Given the description of an element on the screen output the (x, y) to click on. 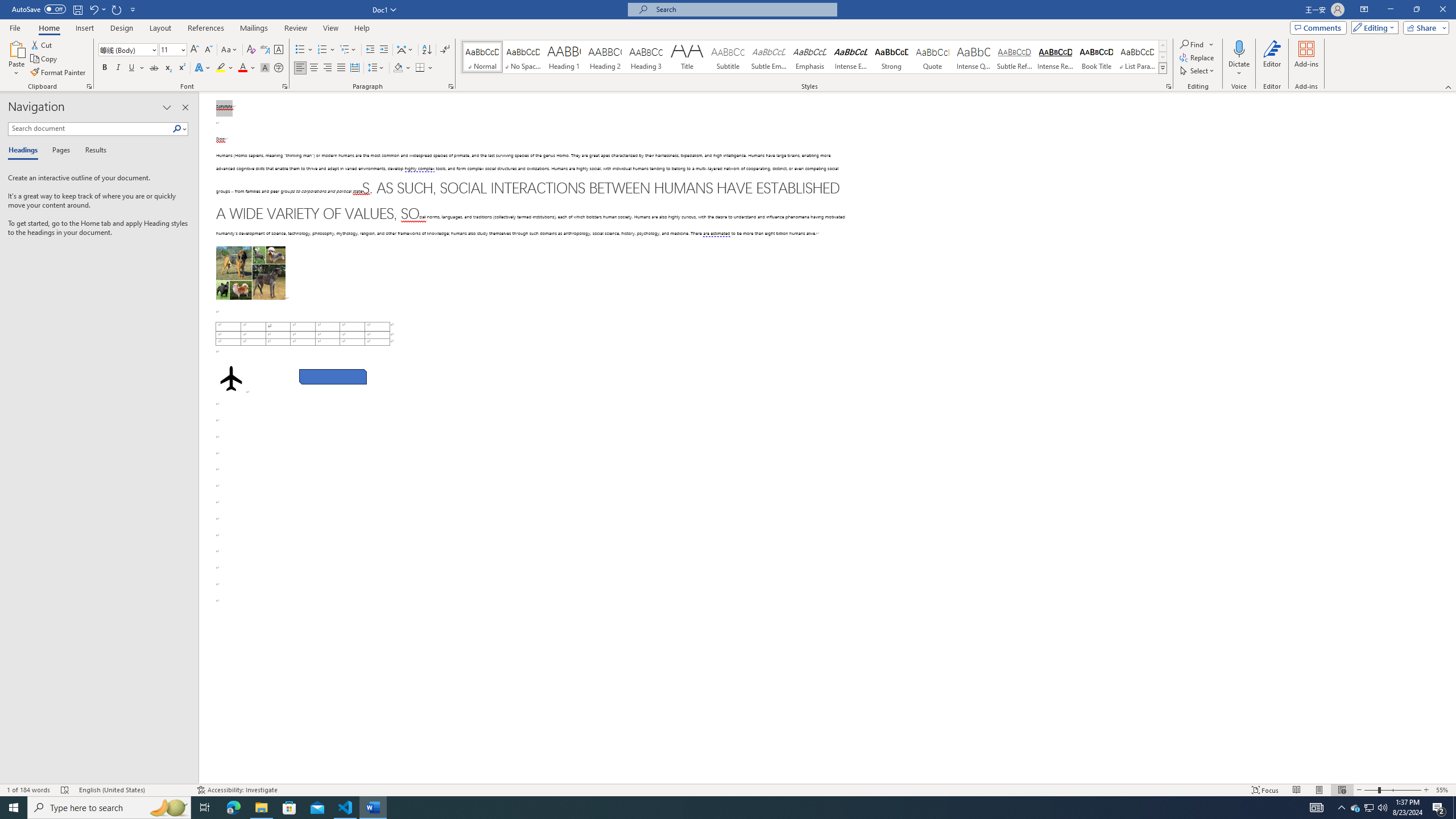
Cut (42, 44)
Subscript (167, 67)
Bullets (304, 49)
Font (124, 49)
Enclose Characters... (278, 67)
